Given the description of an element on the screen output the (x, y) to click on. 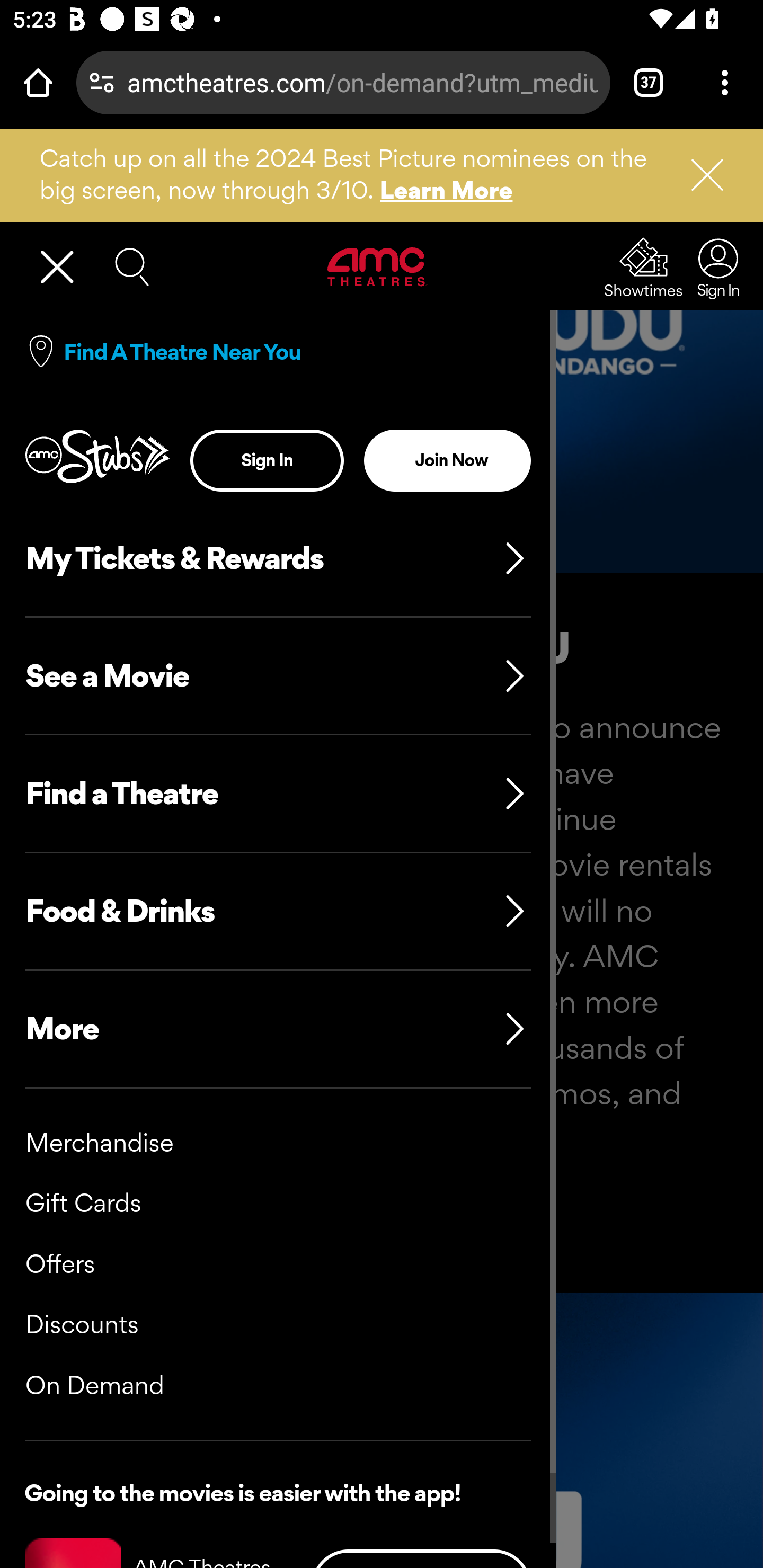
Open the home page (38, 82)
Connection is secure (101, 82)
Switch or close tabs (648, 82)
Customize and control Google Chrome (724, 82)
Dismiss Notification (699, 175)
Learn More (446, 190)
Close Menu (64, 267)
Showtimes Showtimes Showtimes (643, 268)
Sign In (713, 268)
Search the AMC website (131, 266)
Visit Home Page AMC Theatres Logo (377, 266)
Find a Theatre Near You (182, 353)
Sign In (266, 460)
Join Now (447, 460)
My Tickets & Rewards (278, 558)
See a Movie (278, 676)
Find a Theatre (278, 793)
Food & Drinks (278, 911)
More (278, 1029)
Merchandise (99, 1143)
Gift Cards (83, 1203)
Offers (60, 1265)
Discounts (82, 1324)
On Demand (95, 1385)
